Given the description of an element on the screen output the (x, y) to click on. 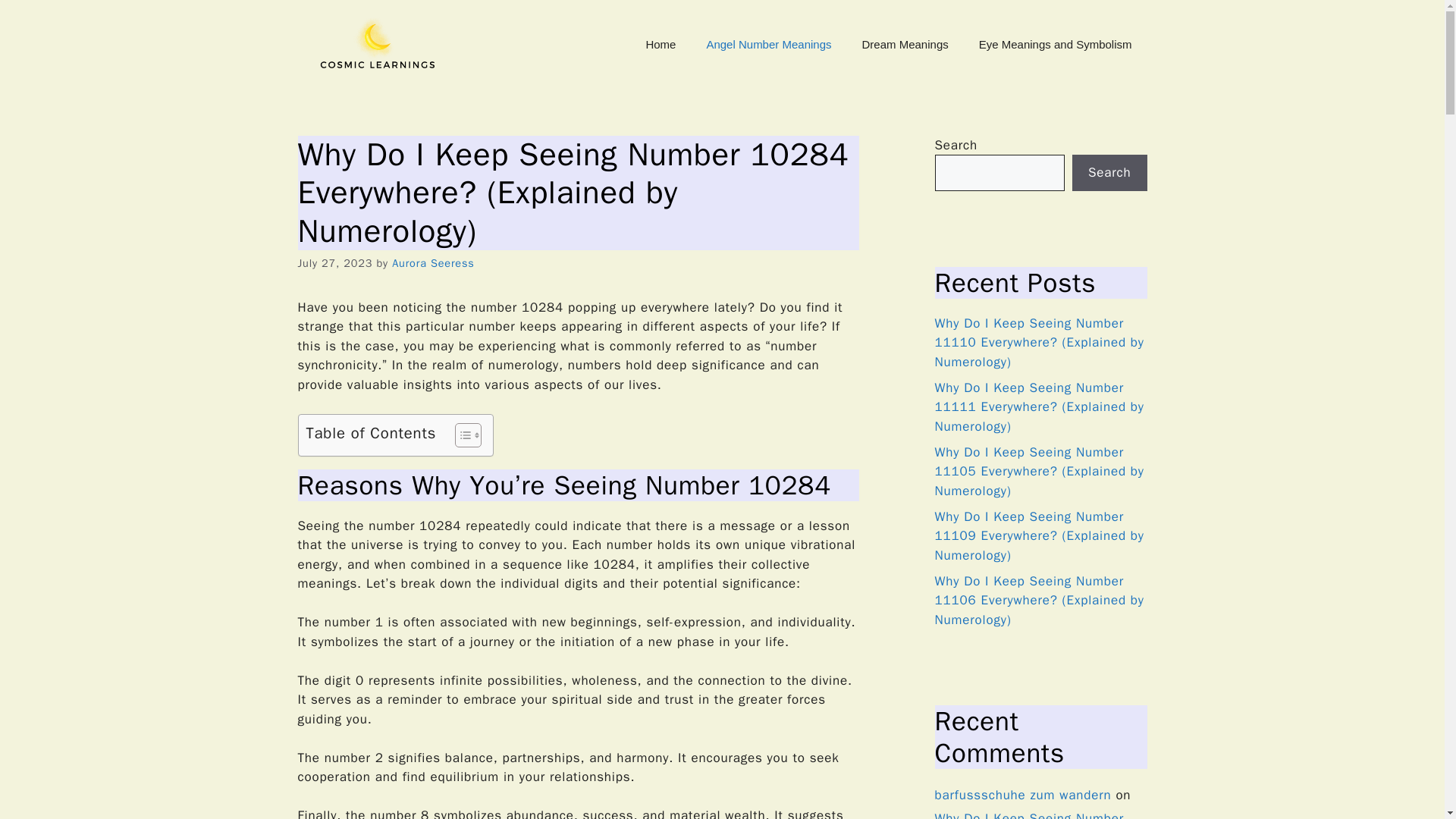
View all posts by Aurora Seeress (432, 263)
Eye Meanings and Symbolism (1055, 44)
Home (660, 44)
Dream Meanings (905, 44)
Angel Number Meanings (767, 44)
Aurora Seeress (432, 263)
